Given the description of an element on the screen output the (x, y) to click on. 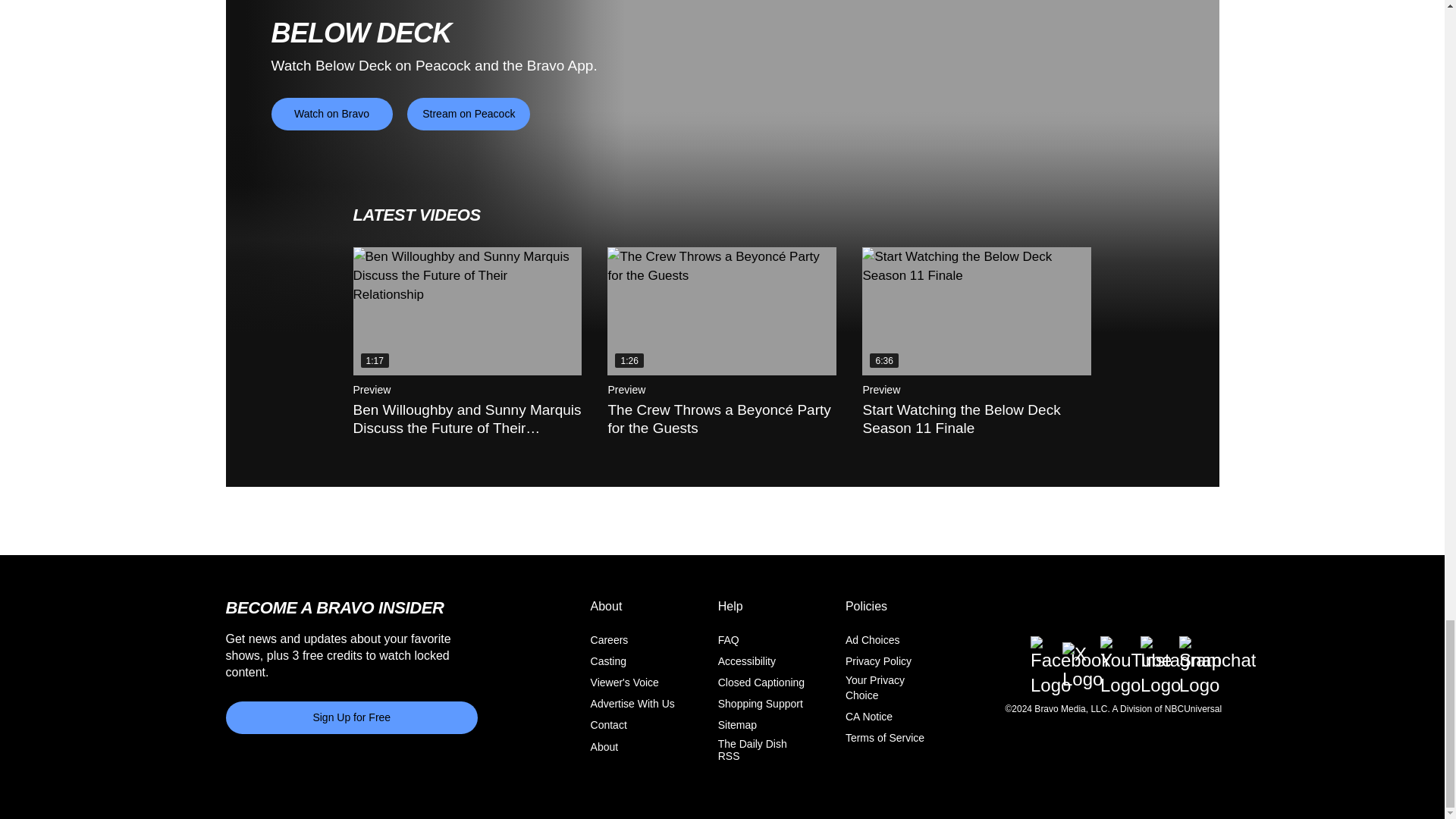
Advertise With Us (633, 704)
Start Watching the Below Deck Season 11 Finale (975, 311)
